Given the description of an element on the screen output the (x, y) to click on. 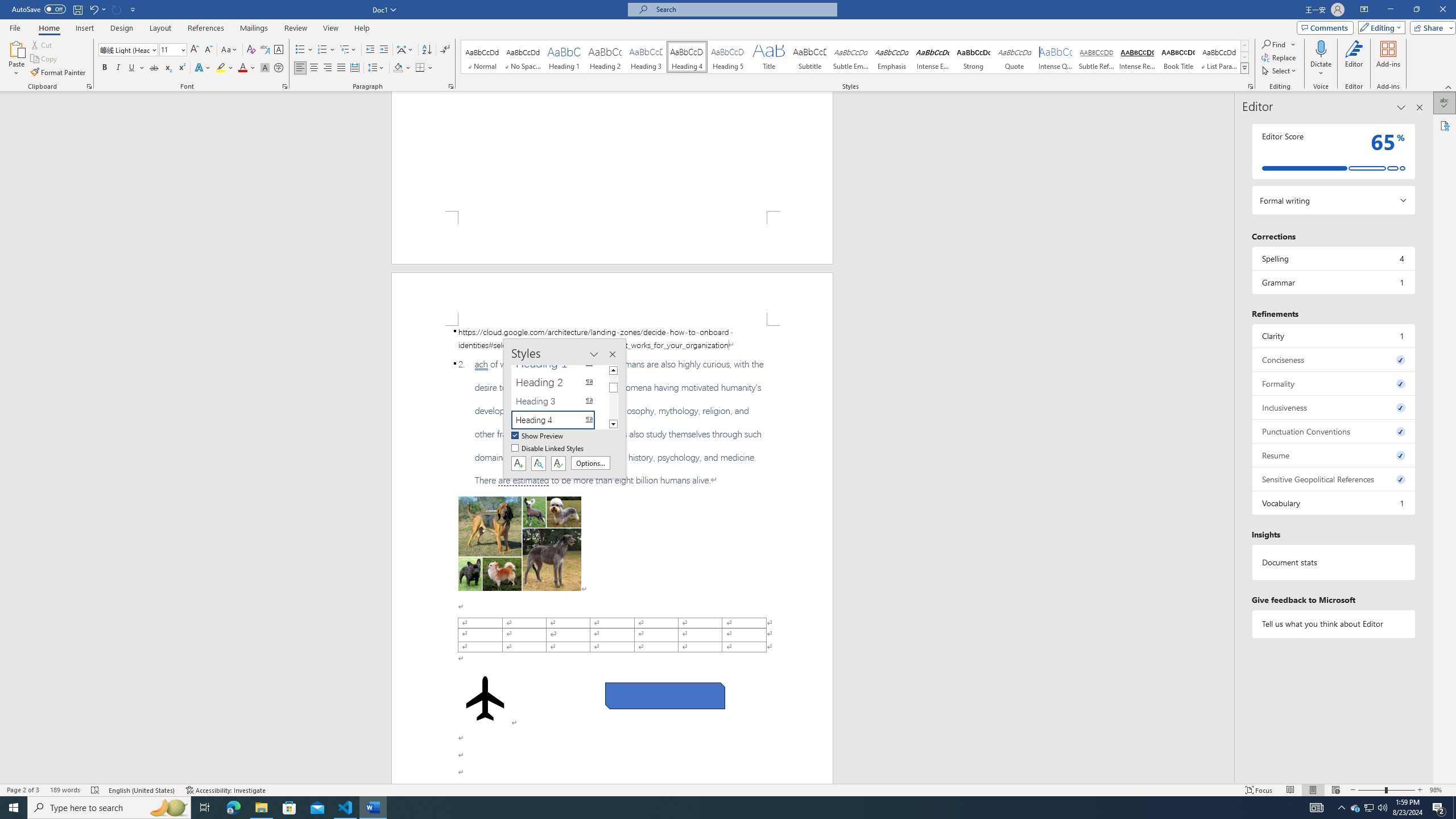
Spelling, 4 issues. Press space or enter to review items. (1333, 258)
Bullets (304, 49)
Zoom (1386, 790)
Heading 4 (686, 56)
Shading RGB(0, 0, 0) (397, 67)
Heading 5 (727, 56)
Title (768, 56)
Morphological variation in six dogs (519, 543)
Paragraph... (450, 85)
Resume, 0 issues. Press space or enter to review items. (1333, 454)
Close pane (1419, 107)
System (6, 6)
Bullets (300, 49)
Increase Indent (383, 49)
